Given the description of an element on the screen output the (x, y) to click on. 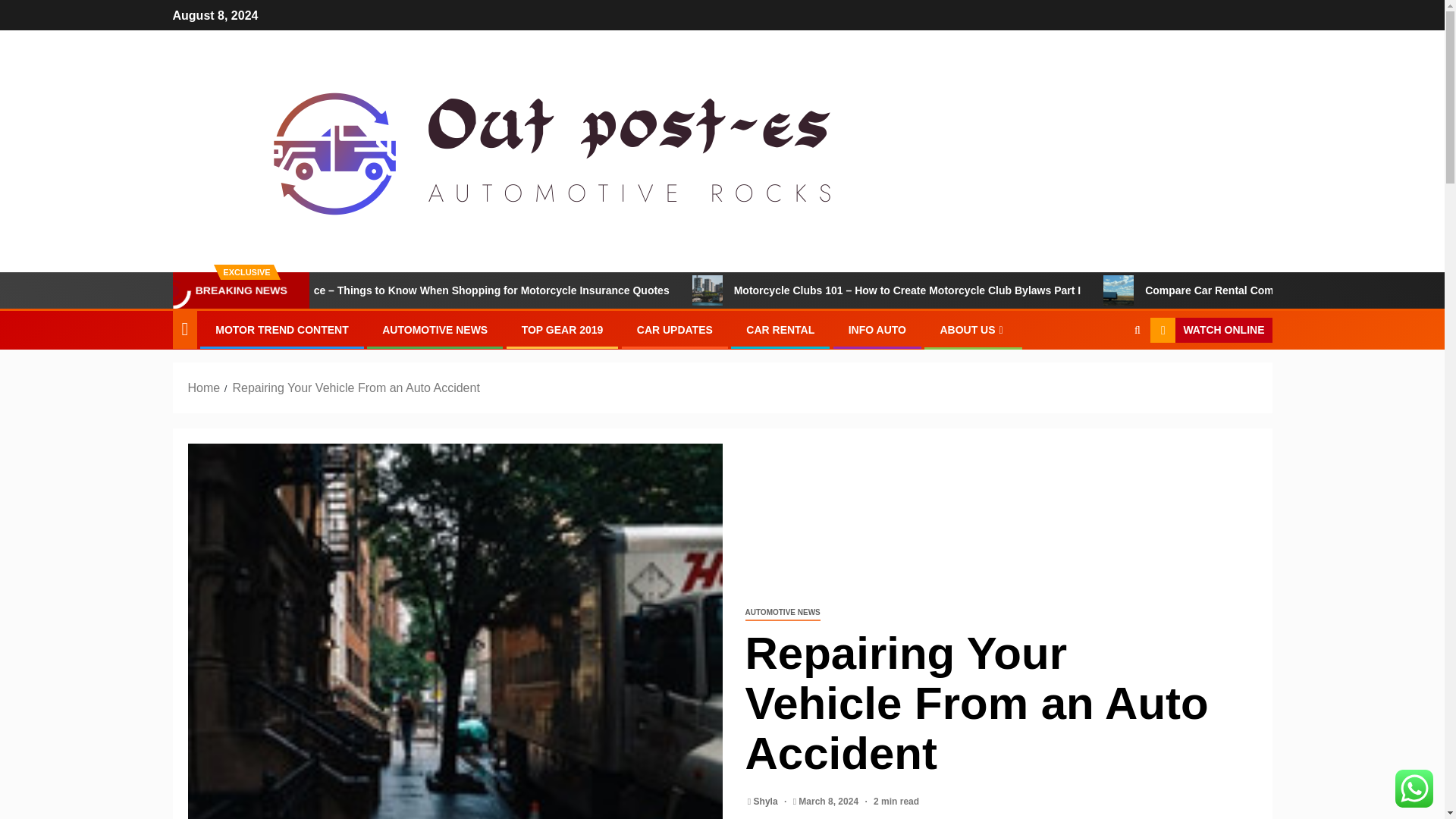
Compare Car Rental Companies (1195, 290)
TOP GEAR 2019 (562, 329)
Search (1107, 376)
AUTOMOTIVE NEWS (434, 329)
CAR UPDATES (675, 329)
CAR RENTAL (779, 329)
Shyla (767, 801)
Repairing Your Vehicle From an Auto Accident (355, 387)
MOTOR TREND CONTENT (282, 329)
AUTOMOTIVE NEWS (781, 612)
